Given the description of an element on the screen output the (x, y) to click on. 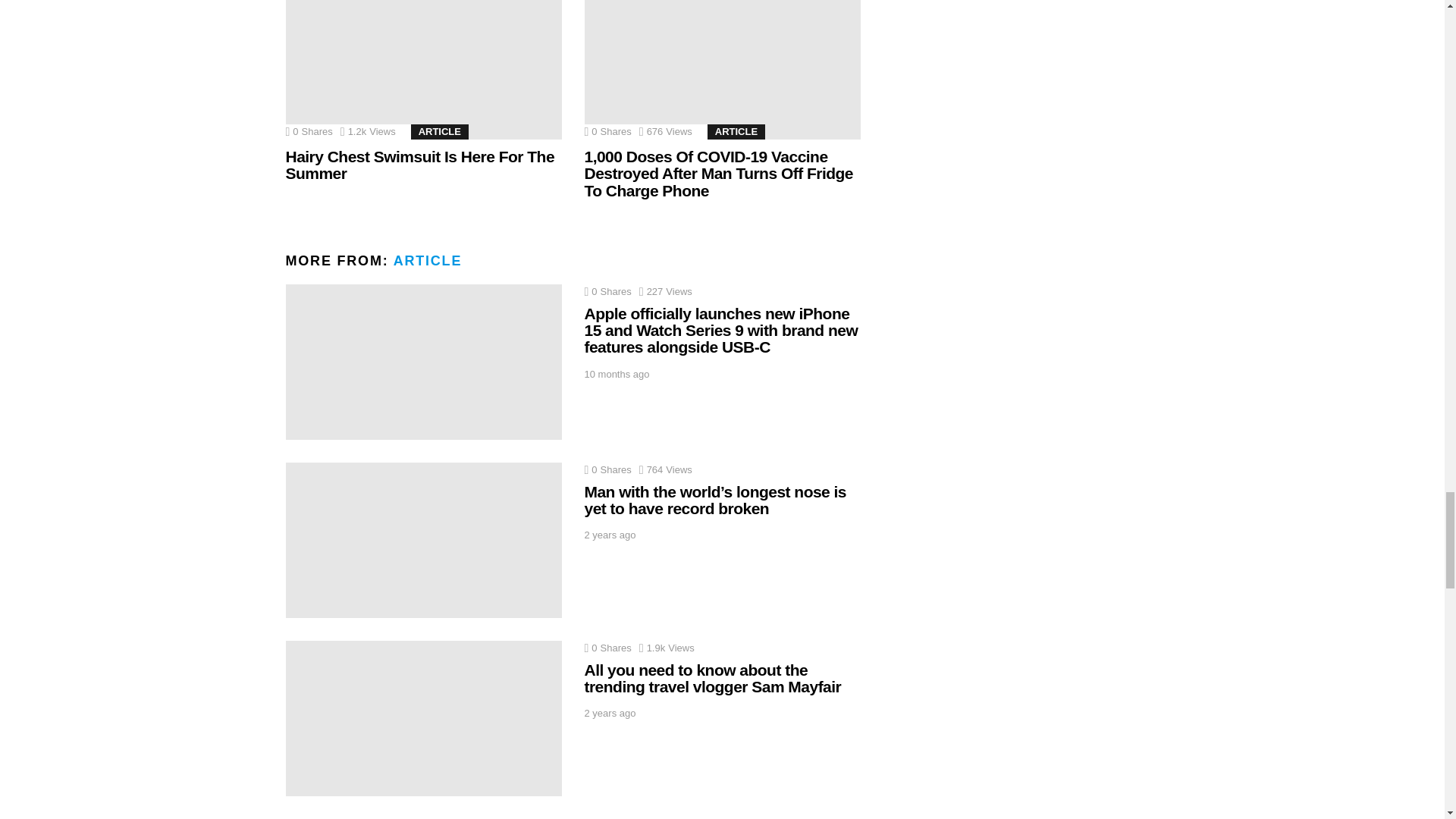
Hairy Chest Swimsuit Is Here For The Summer (422, 69)
